Given the description of an element on the screen output the (x, y) to click on. 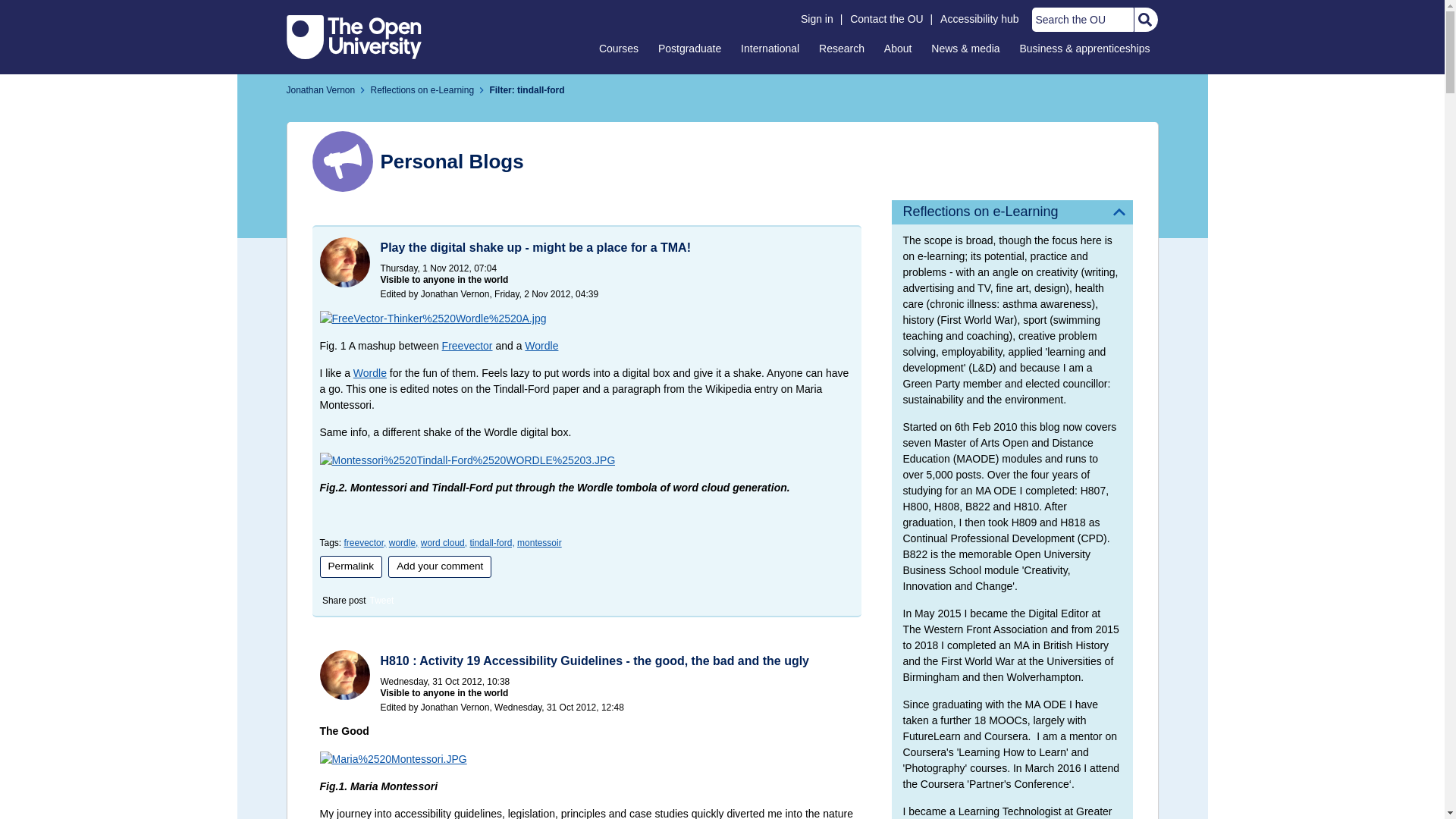
About (898, 48)
Courses (618, 48)
Jonathan Vernon (320, 90)
Search (1144, 19)
Accessibility hub (979, 19)
The Open University (354, 36)
Search (1144, 19)
Postgraduate (689, 48)
International (770, 48)
Reflections on e-Learning (421, 90)
Sign in (816, 19)
Contact the OU (886, 19)
Research (841, 48)
Reflections on e-Learning (1011, 211)
